Given the description of an element on the screen output the (x, y) to click on. 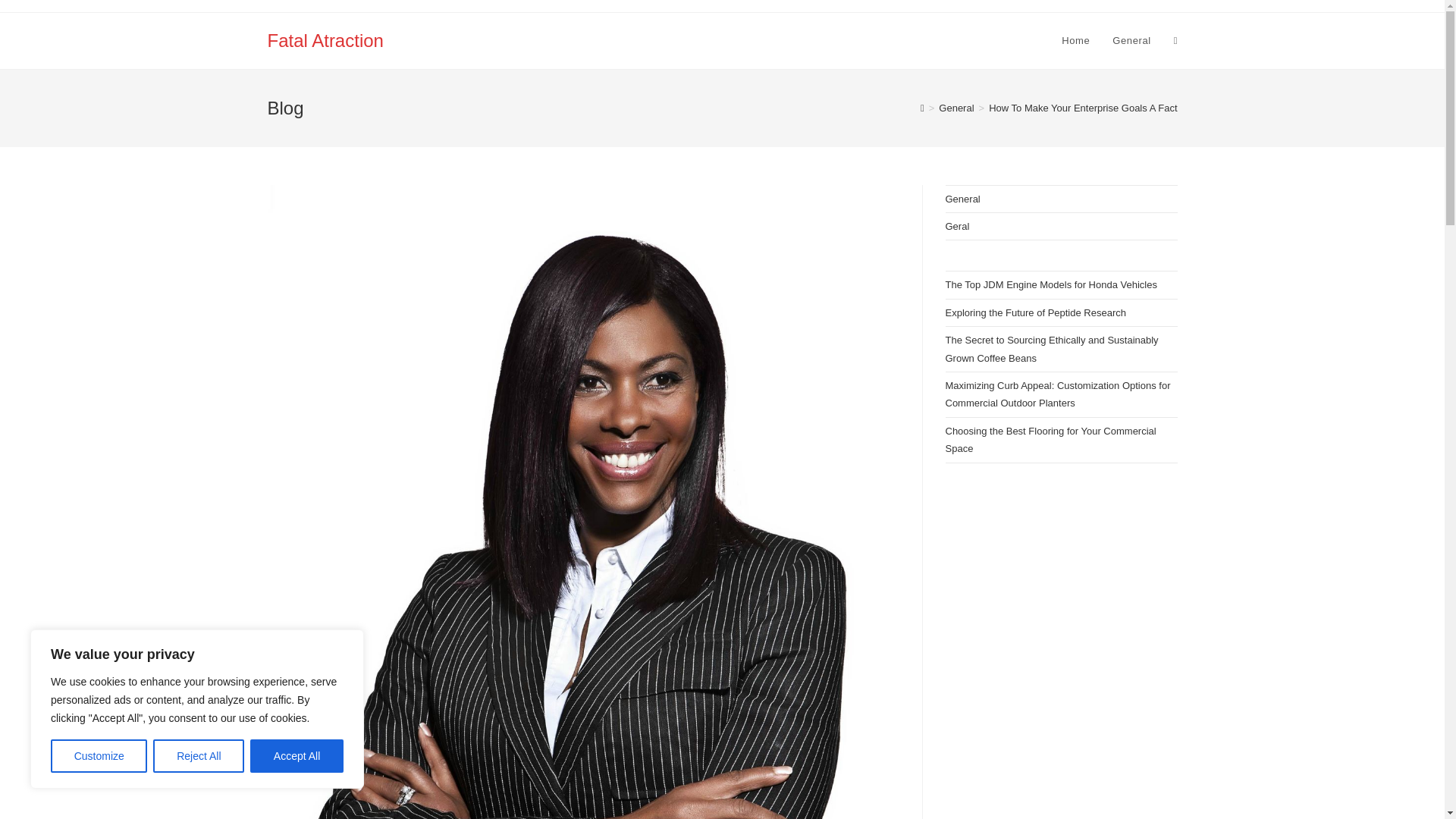
Accept All (296, 756)
Customize (98, 756)
General (1130, 40)
Reject All (198, 756)
General (956, 107)
Home (1074, 40)
How To Make Your Enterprise Goals A Fact (1082, 107)
Fatal Atraction (324, 40)
